Given the description of an element on the screen output the (x, y) to click on. 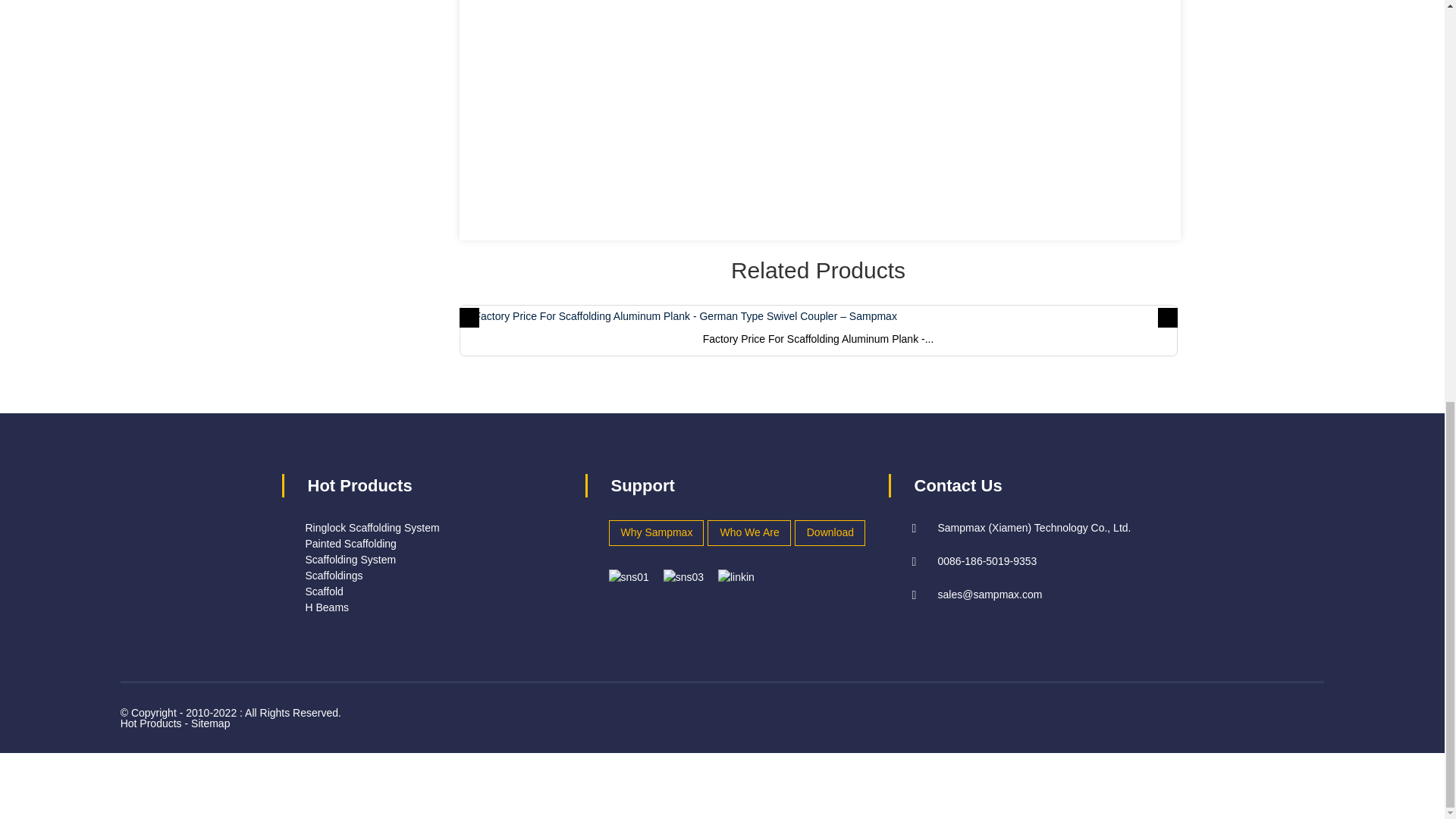
Scaffolding System (350, 559)
Ringlock Scaffolding System (371, 527)
Painted Scaffolding (350, 543)
Scaffoldings (333, 575)
